Given the description of an element on the screen output the (x, y) to click on. 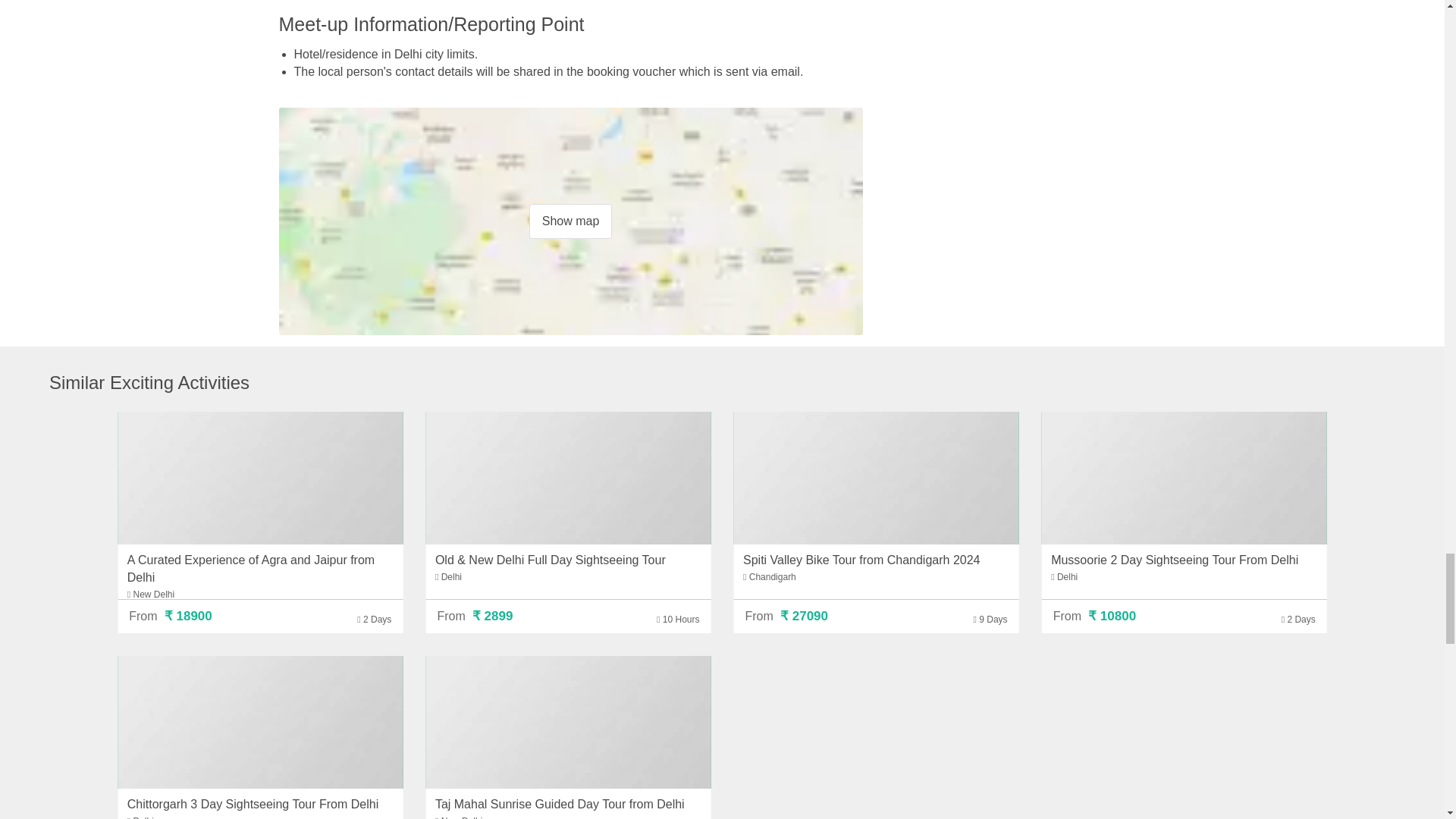
Best Seller (464, 429)
Chittorgarh 3 Day Sightseeing Tour From Delhi (253, 803)
Offbeat (773, 429)
A Curated Experience of Agra and Jaipur from Delhi (260, 477)
Taj Mahal Sunrise Guided Day Tour from Delhi (559, 803)
Mussoorie 2 Day Sightseeing Tour From Delhi (1184, 477)
Spiti Valley Bike Tour from Chandigarh 2024 (876, 477)
A Curated Experience of Agra and Jaipur from Delhi (251, 568)
Mussoorie 2 Day Sightseeing Tour From Delhi (1174, 559)
Taj Mahal Sunrise Guided Day Tour from Delhi (567, 722)
